Given the description of an element on the screen output the (x, y) to click on. 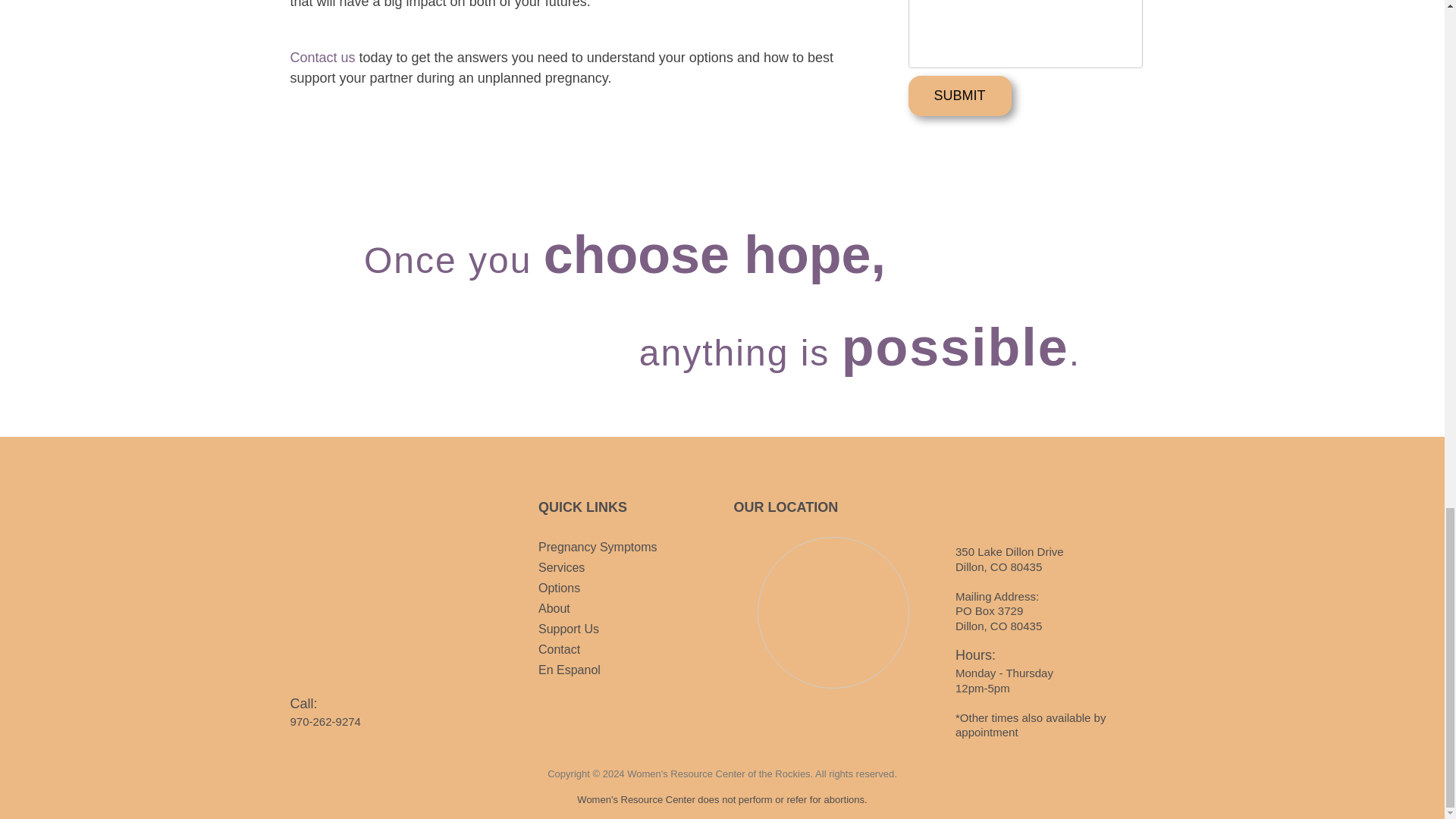
Contact us (322, 57)
Submit (959, 96)
PHC Logo (389, 581)
970-262-9274 (324, 721)
About (554, 608)
Support Us (568, 628)
Submit (959, 96)
Pregnancy Symptoms (598, 546)
Services (561, 567)
Options (558, 587)
